Given the description of an element on the screen output the (x, y) to click on. 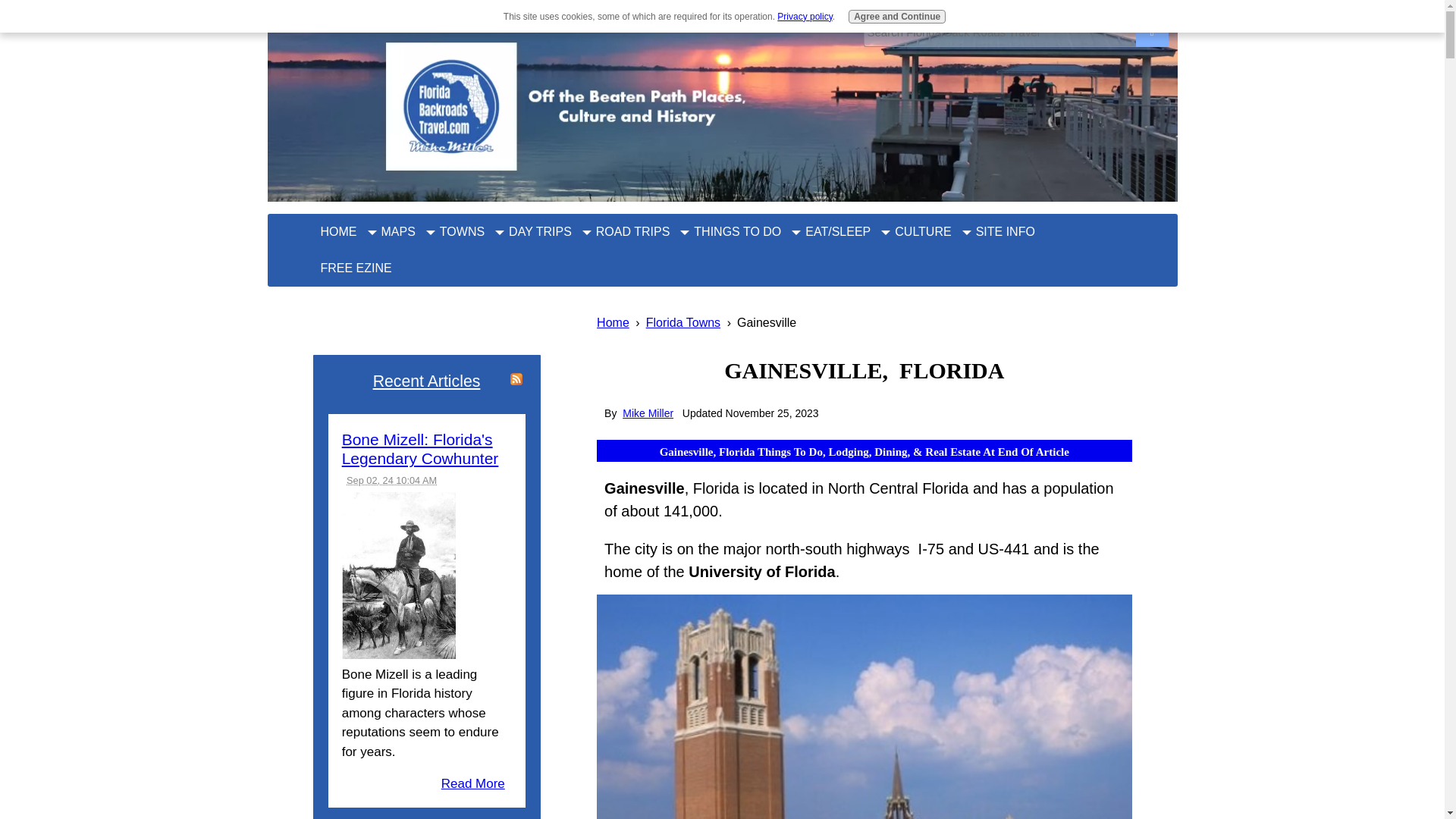
2024-09-02T10:04:36-0400 (391, 480)
University of Florida Century Tower (863, 706)
HOME (334, 231)
